Given the description of an element on the screen output the (x, y) to click on. 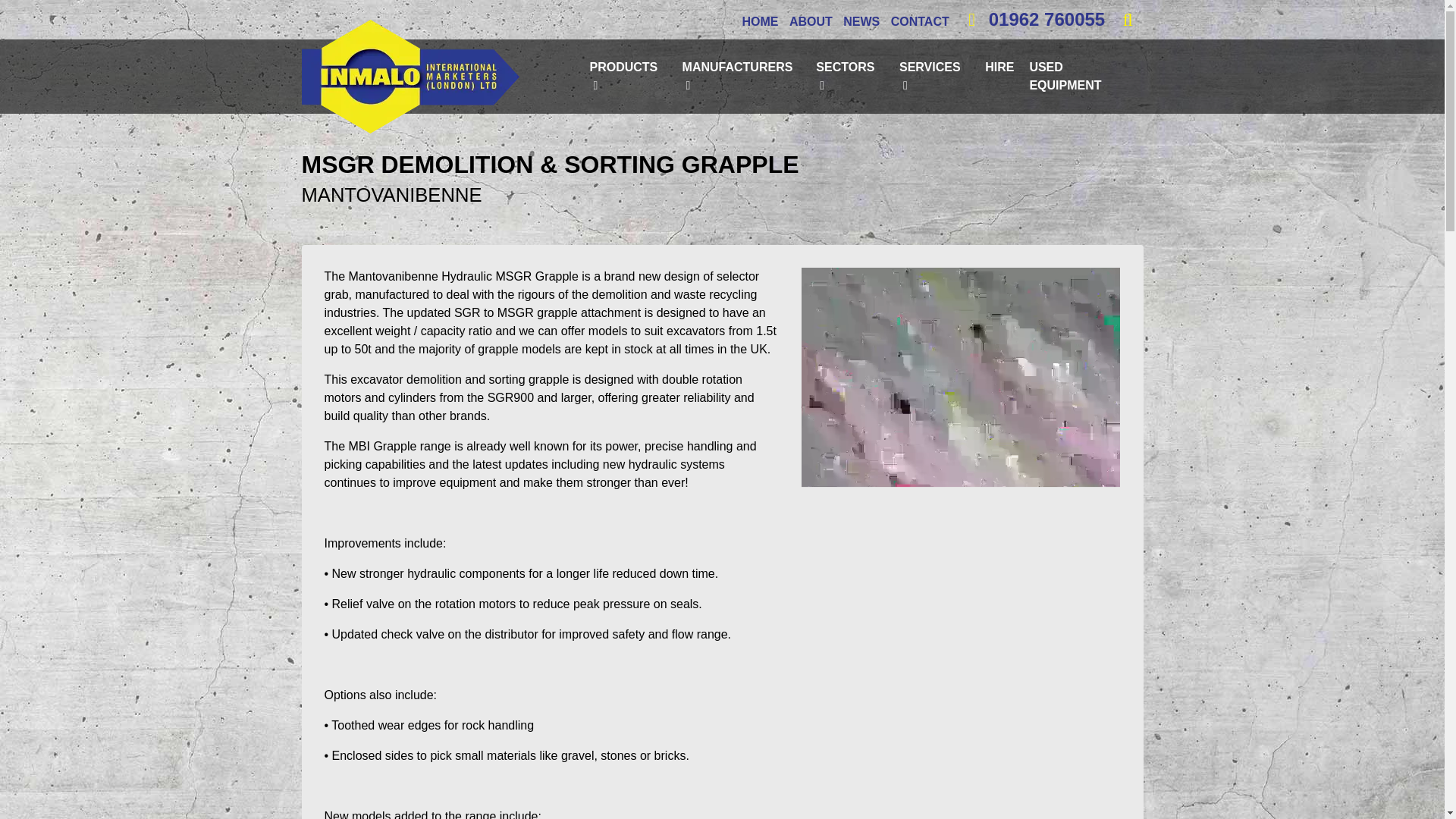
01962 760055 (1032, 19)
PRODUCTS (627, 76)
ABOUT (810, 22)
HOME (759, 22)
NEWS (861, 22)
MANUFACTURERS (742, 76)
CONTACT (920, 22)
